Given the description of an element on the screen output the (x, y) to click on. 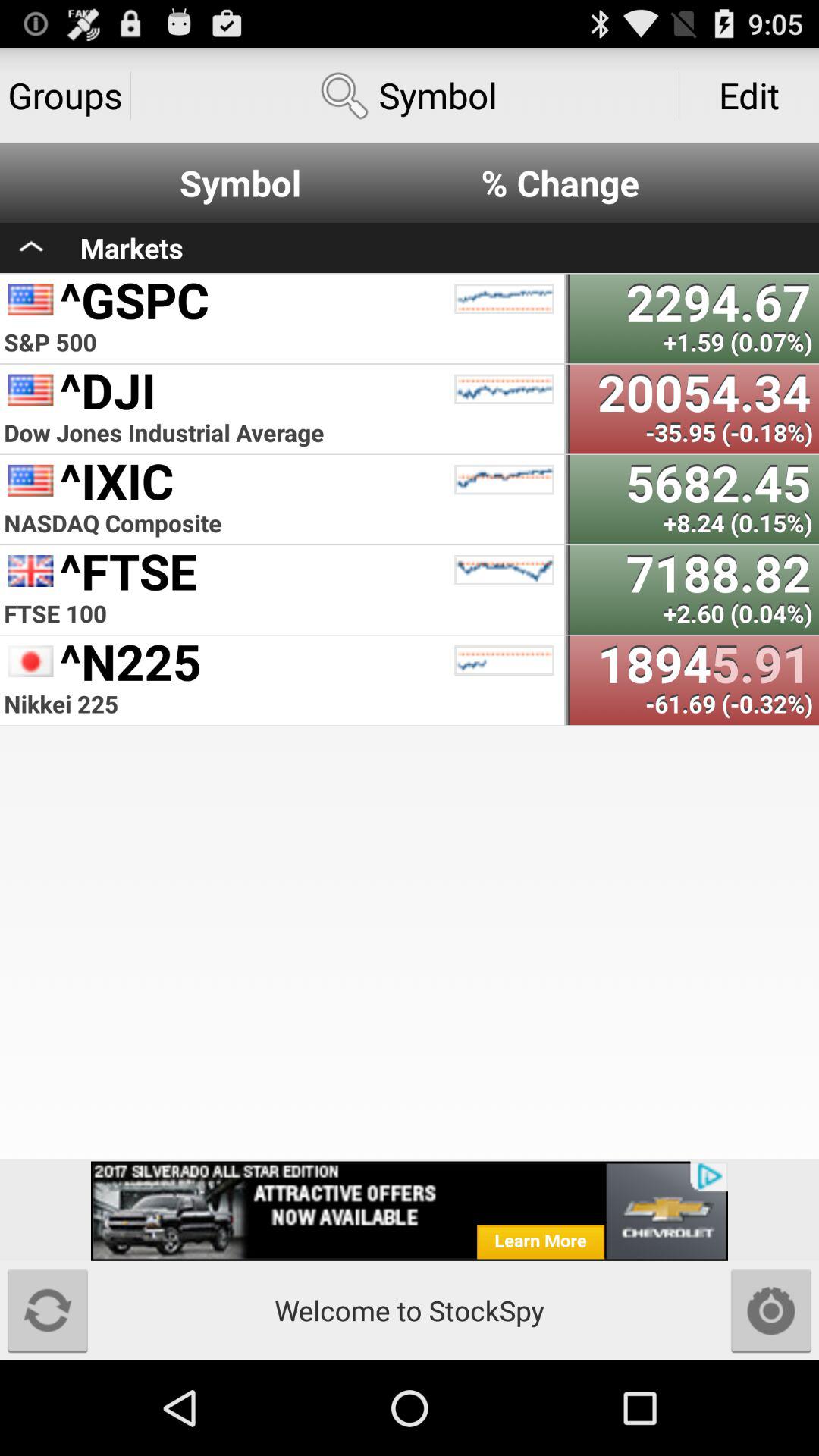
advertisement that will redirect to car website (409, 1210)
